Given the description of an element on the screen output the (x, y) to click on. 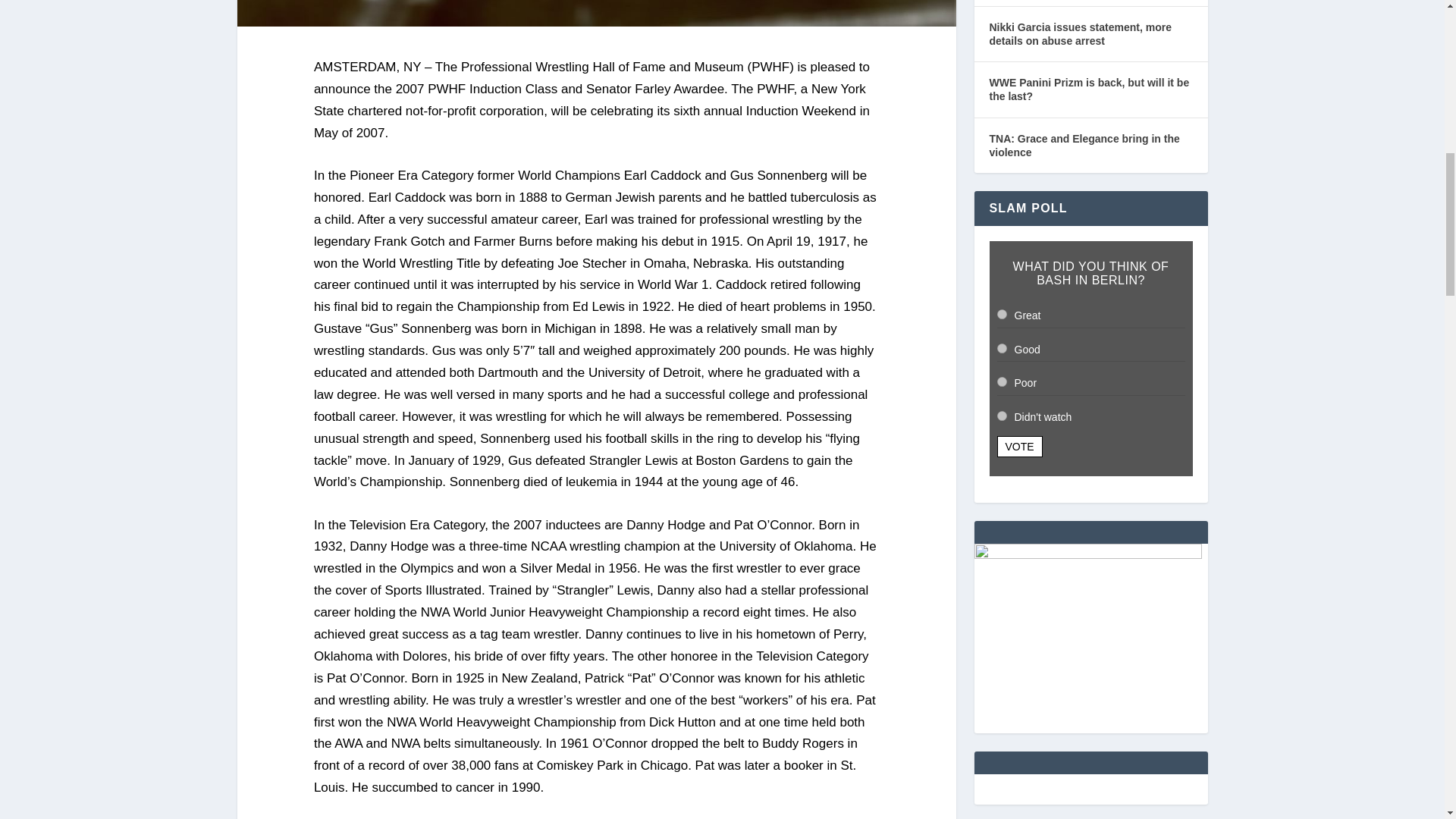
6513 (1000, 415)
6510 (1000, 314)
6512 (1000, 381)
6511 (1000, 347)
